Given the description of an element on the screen output the (x, y) to click on. 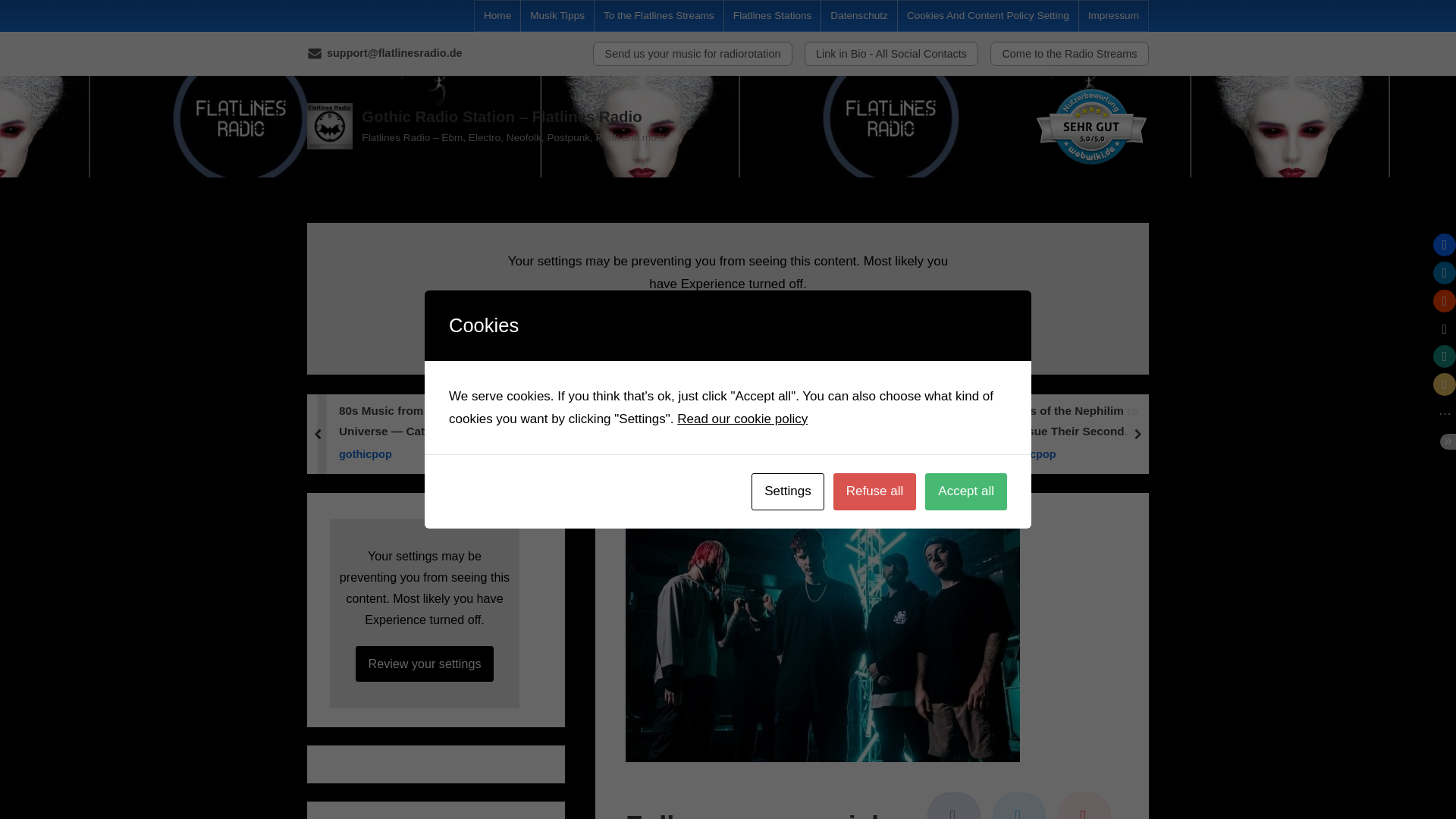
To the Flatlines Streams (659, 15)
Review your settings (728, 329)
Home (497, 15)
Flatlines Stations (772, 15)
Datenschutz (858, 15)
gothicpop (1077, 453)
Impressum (1112, 15)
Come to the Radio Streams (1069, 53)
Send us your music for radiorotation (692, 53)
Musik Tipps (557, 15)
Cookies And Content Policy Setting (987, 15)
deathmetal (635, 453)
gothicpop (423, 453)
Flatlines Radio Stations (848, 453)
Link in Bio - All Social Contacts (891, 53)
